Given the description of an element on the screen output the (x, y) to click on. 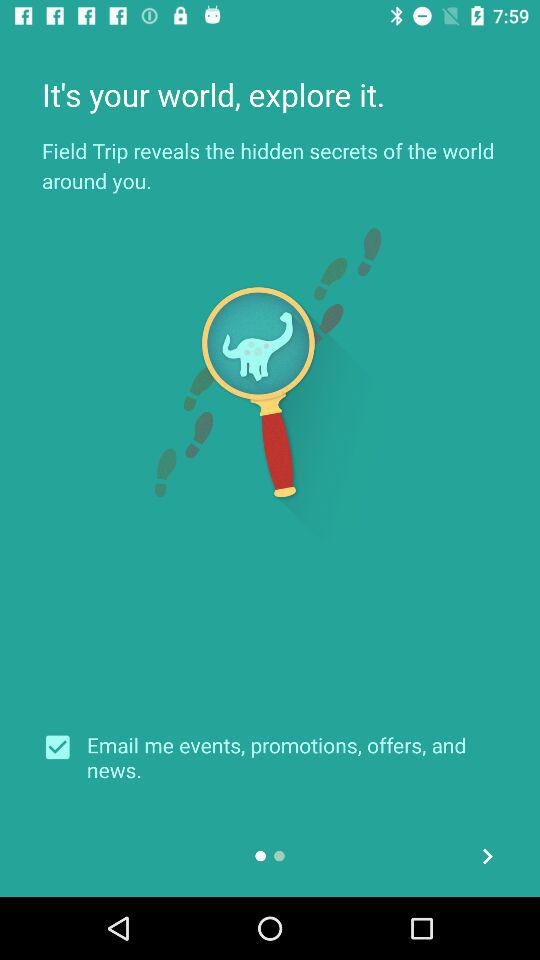
click app to the left of the email me events icon (64, 747)
